Given the description of an element on the screen output the (x, y) to click on. 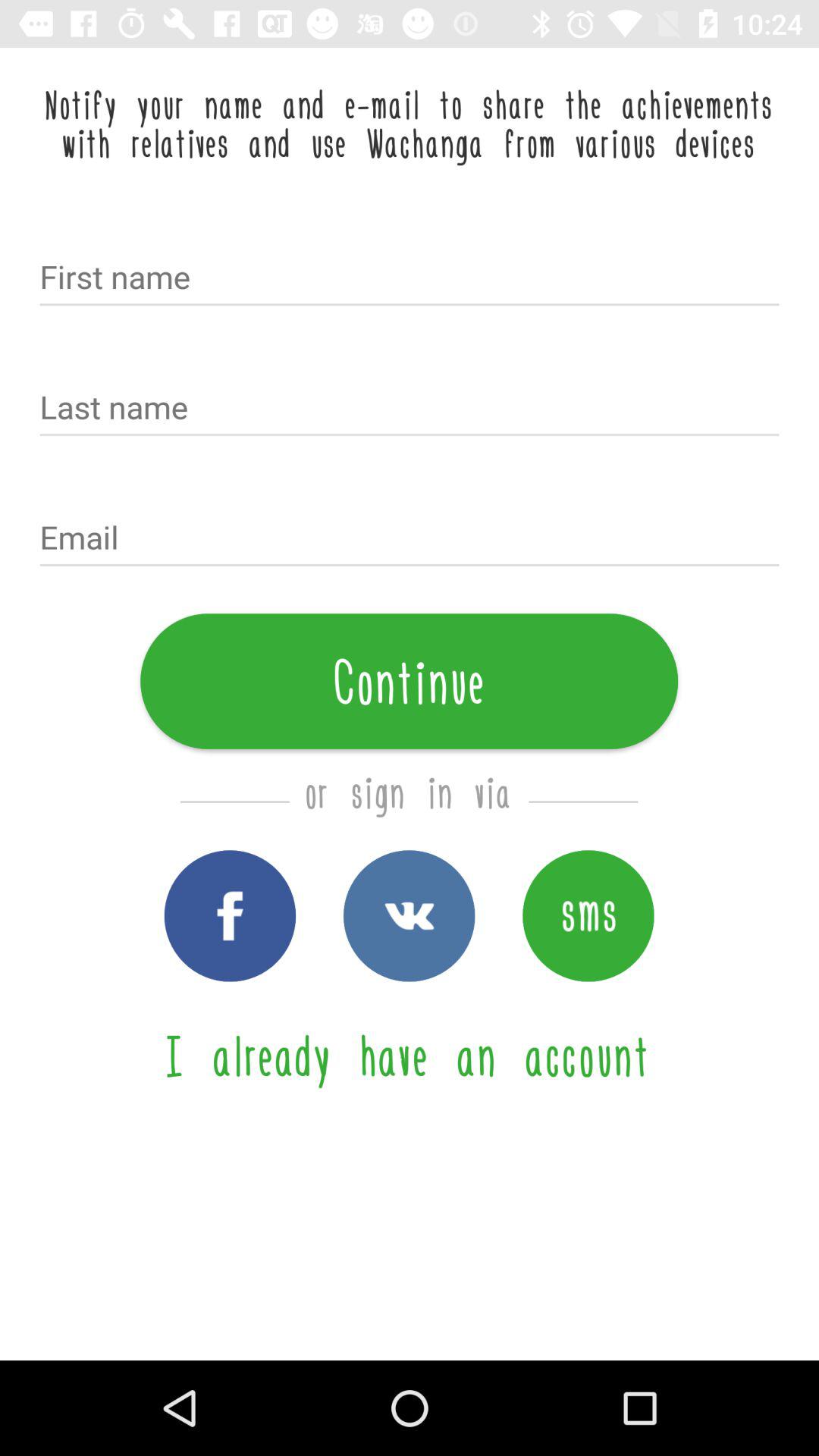
sign in via text messaging (588, 915)
